Given the description of an element on the screen output the (x, y) to click on. 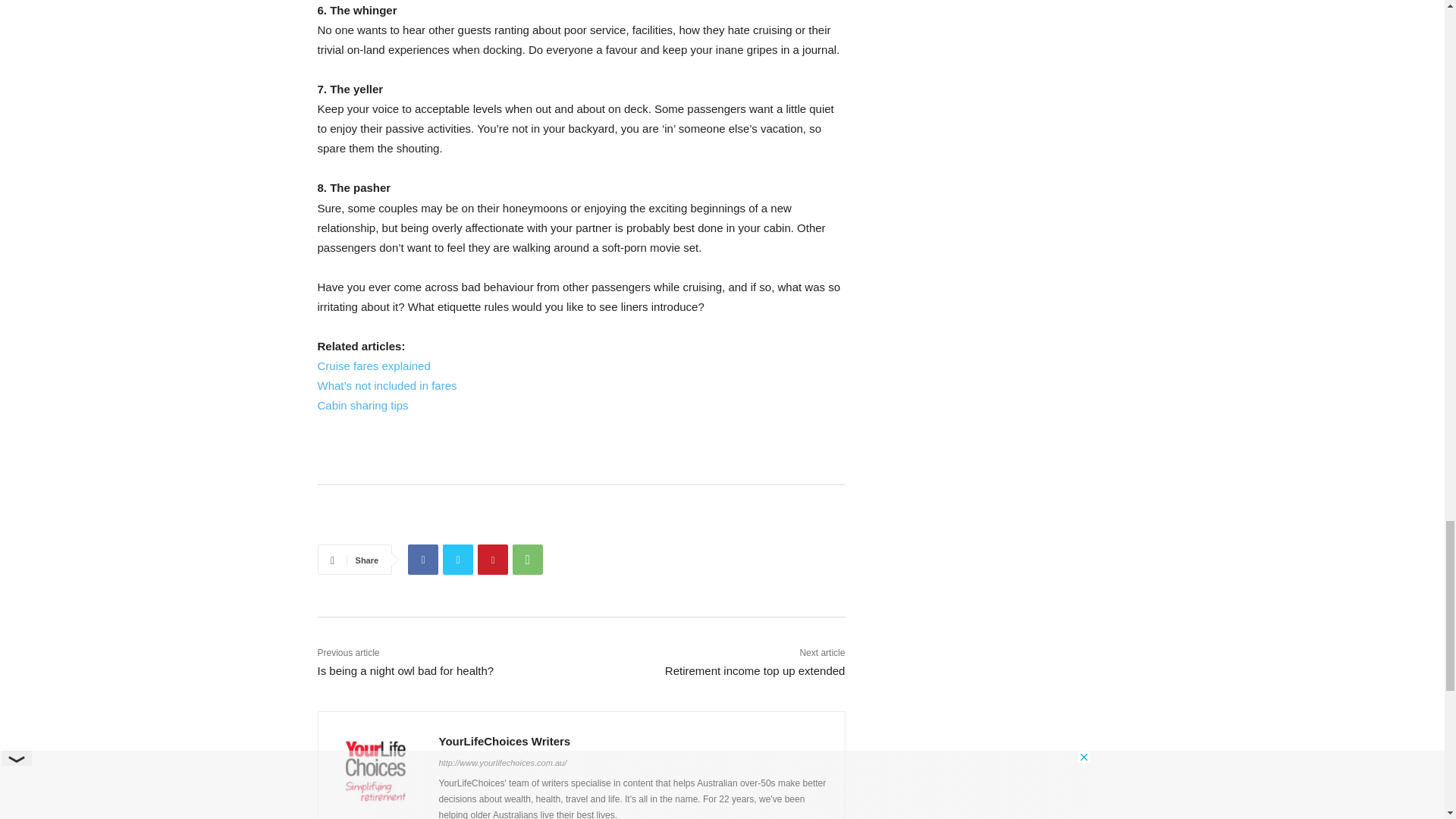
Pinterest (492, 559)
Twitter (457, 559)
Facebook (422, 559)
WhatsApp (527, 559)
